Given the description of an element on the screen output the (x, y) to click on. 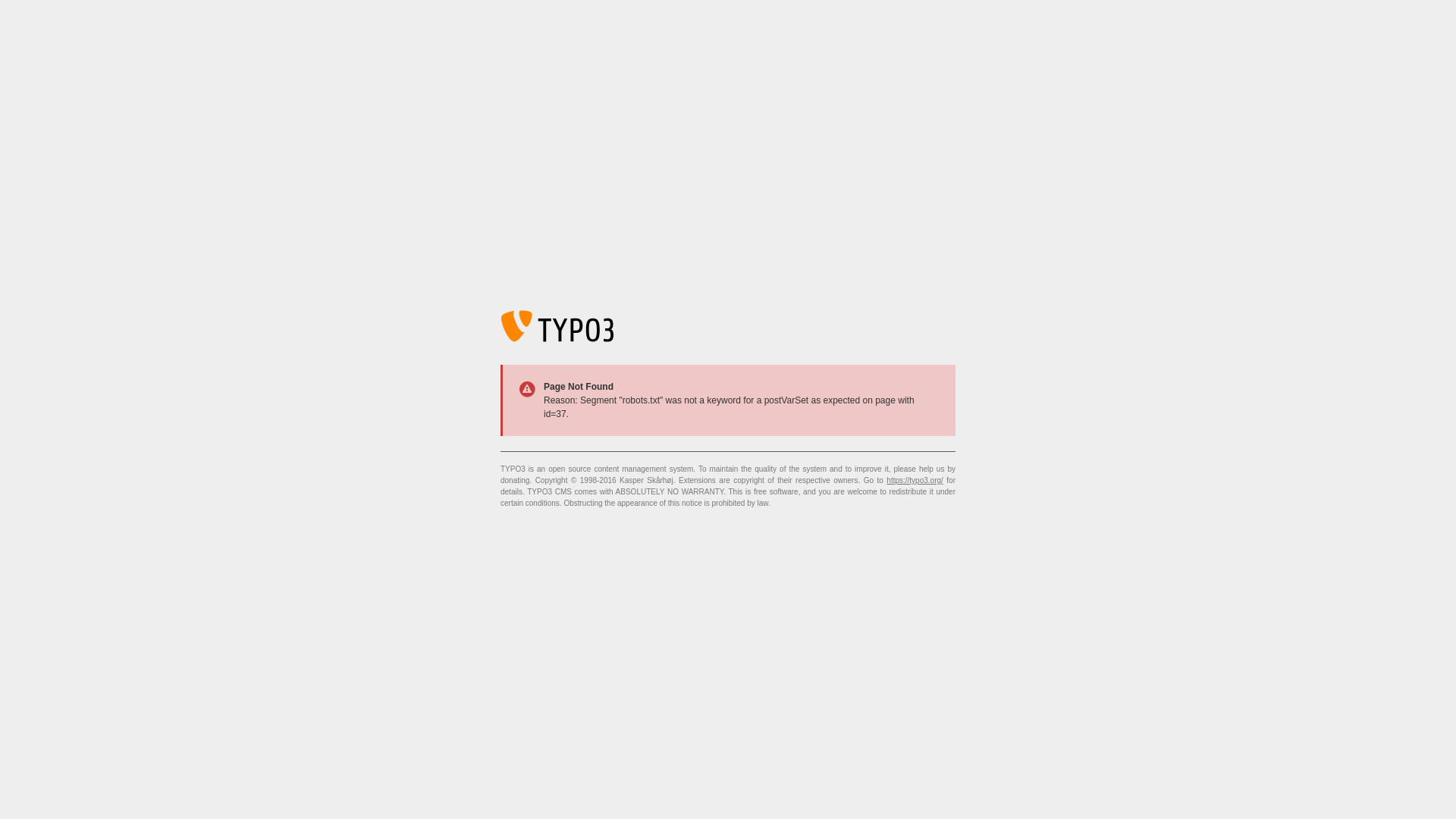
https://typo3.org/ Element type: text (914, 480)
